Given the description of an element on the screen output the (x, y) to click on. 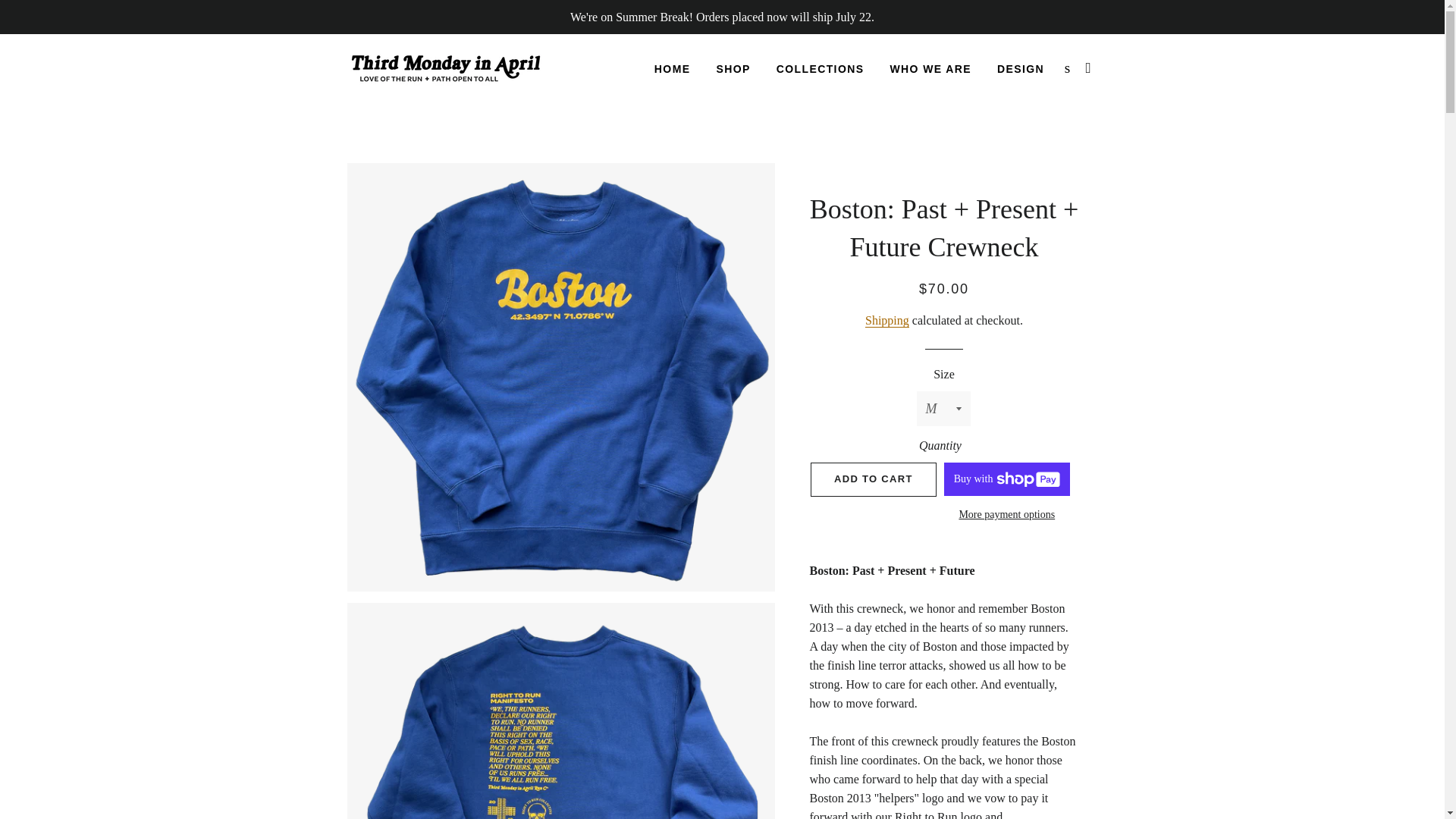
DESIGN (1020, 69)
COLLECTIONS (820, 69)
HOME (672, 69)
SHOP (732, 69)
ADD TO CART (873, 479)
SEARCH (1067, 67)
More payment options (1006, 514)
Shipping (886, 320)
CART (1088, 67)
WHO WE ARE (929, 69)
